Given the description of an element on the screen output the (x, y) to click on. 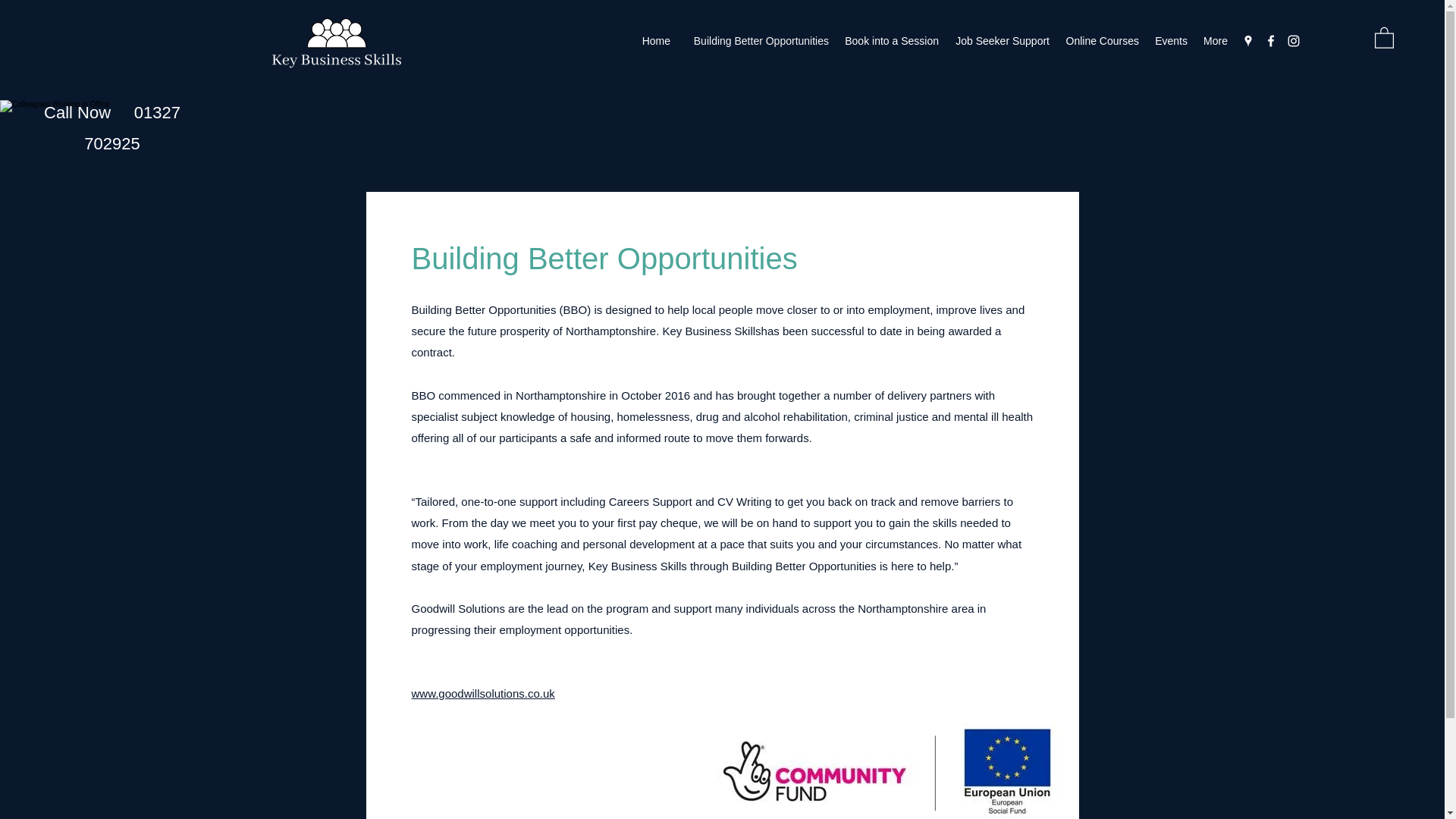
Home (655, 40)
lottery.jpg (885, 765)
Job Seeker Support (1001, 40)
Call Now     01327 702925 (111, 128)
Building Better Opportunities (756, 40)
Online Courses (1102, 40)
www.goodwillsolutions.co.uk (482, 693)
Book into a Session (890, 40)
Events (1171, 40)
